Given the description of an element on the screen output the (x, y) to click on. 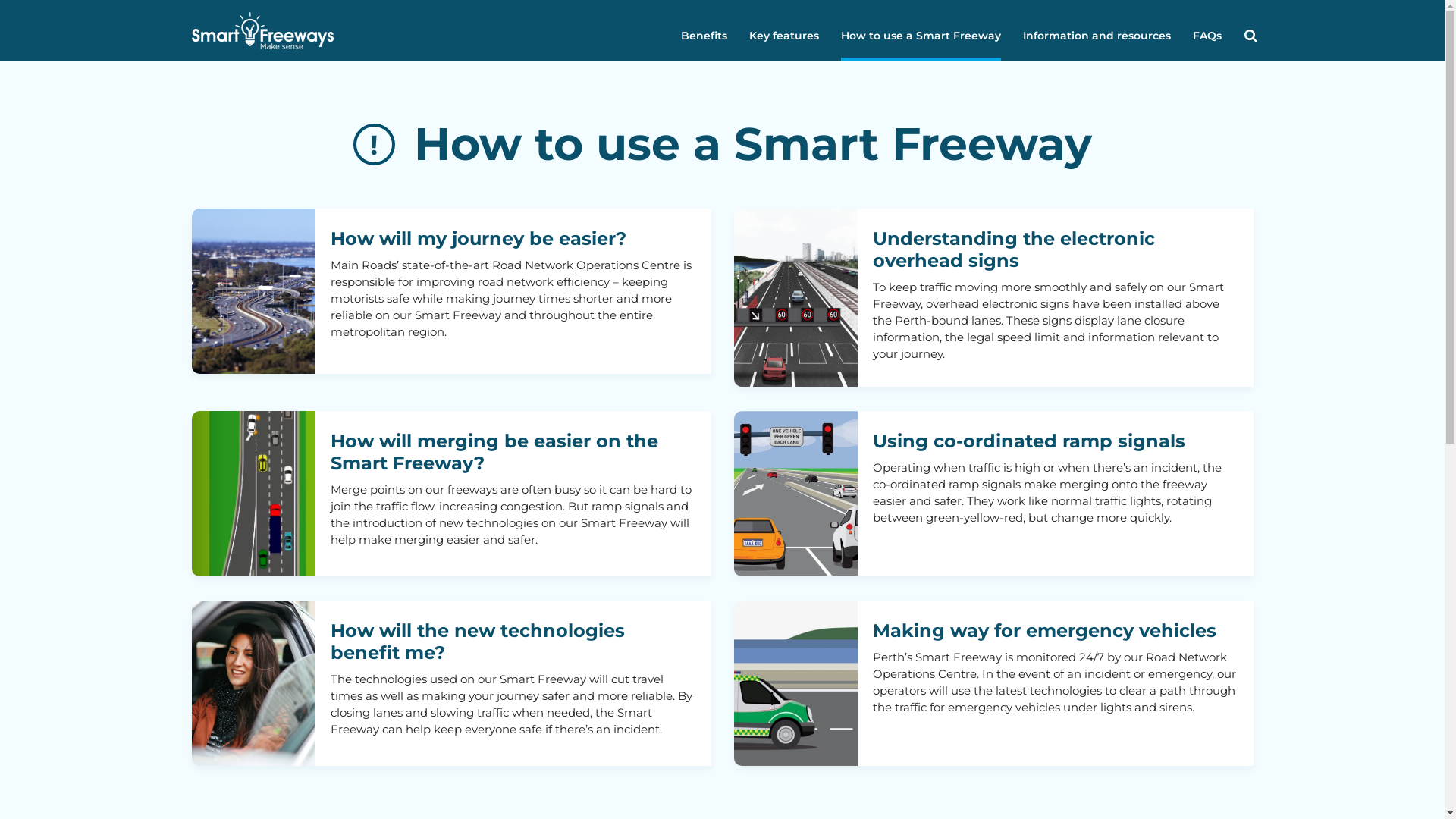
Information and resources Element type: text (1096, 30)
Benefits Element type: text (703, 30)
FAQs Element type: text (1206, 30)
Smart Freeways Make Sense Element type: hover (262, 30)
How to use a Smart Freeway Element type: text (920, 30)
Key features Element type: text (784, 30)
